Given the description of an element on the screen output the (x, y) to click on. 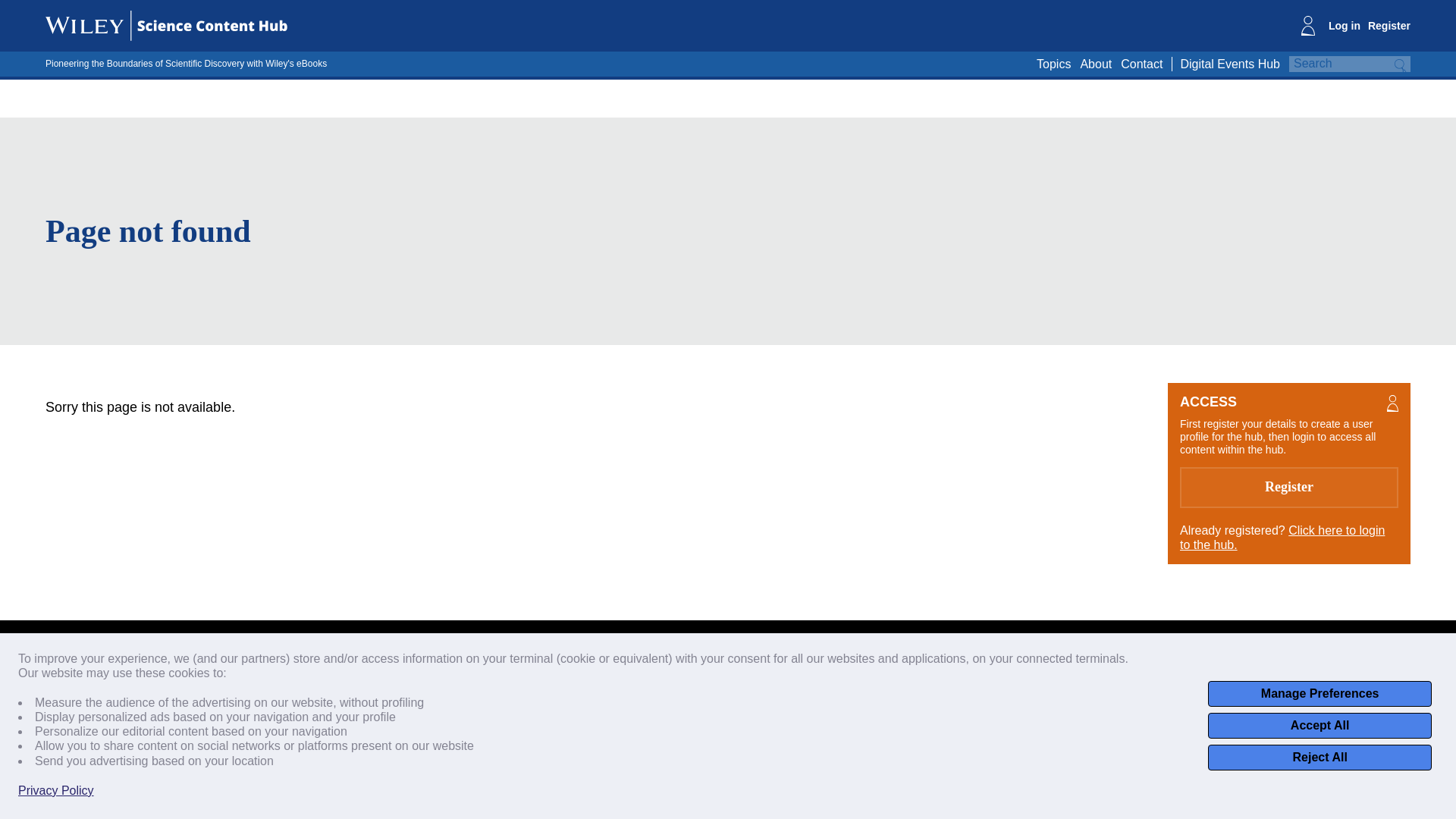
Register (1389, 25)
Topics (1053, 63)
Log in (1343, 25)
